Given the description of an element on the screen output the (x, y) to click on. 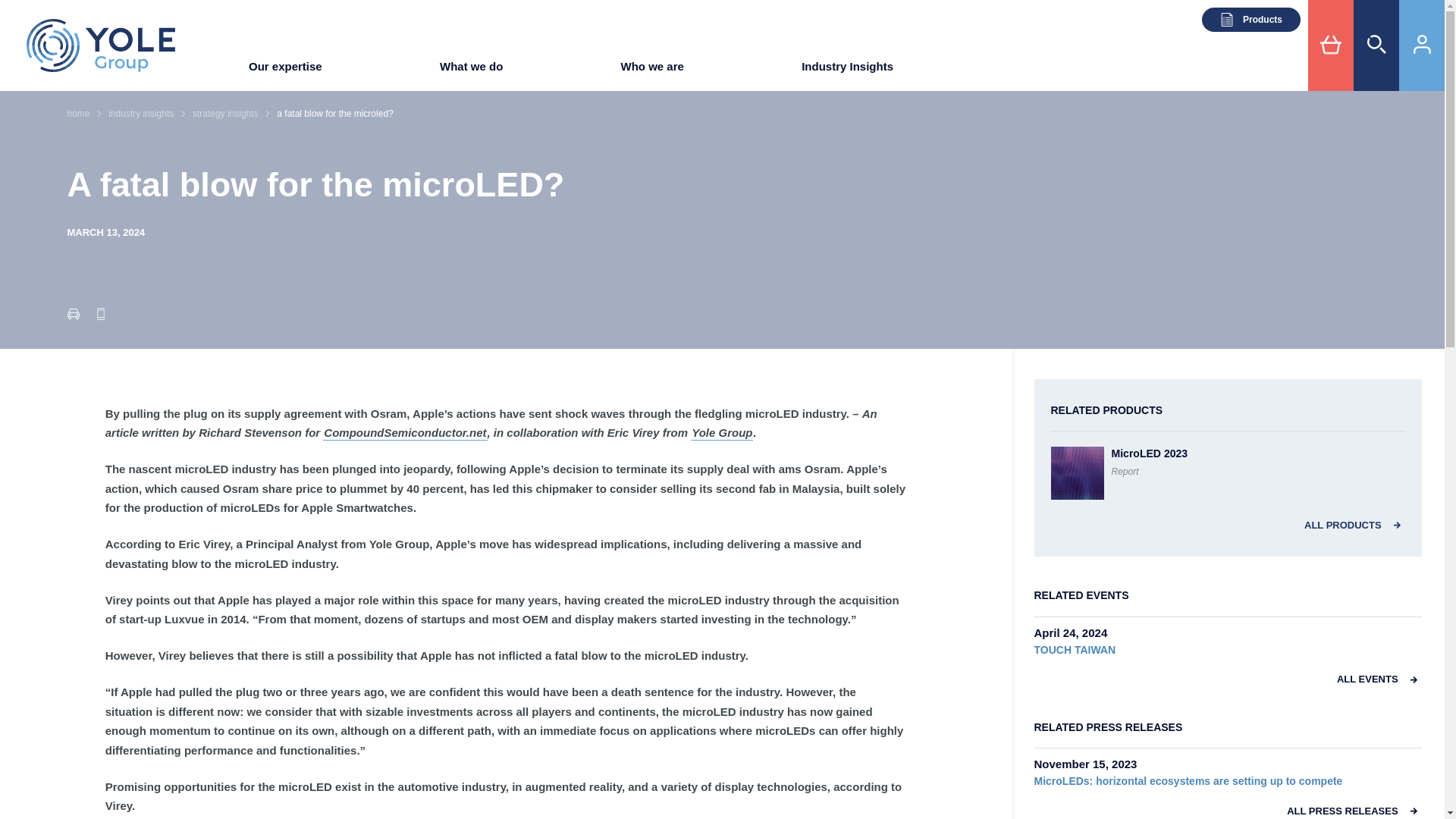
Our expertise (284, 71)
What we do (470, 71)
Who we are (652, 71)
Products (1251, 19)
